Given the description of an element on the screen output the (x, y) to click on. 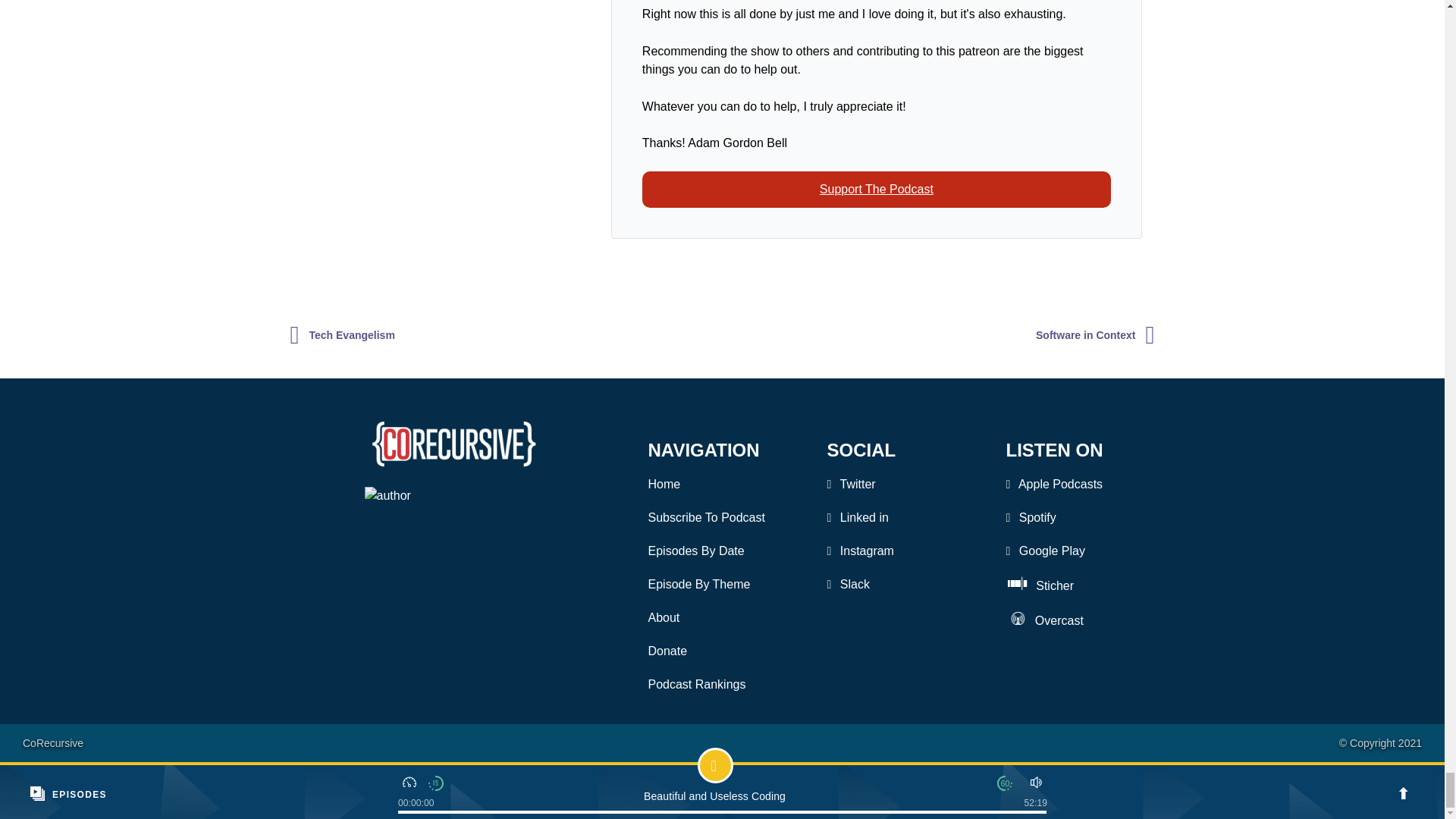
Support The Podcast (876, 189)
